Given the description of an element on the screen output the (x, y) to click on. 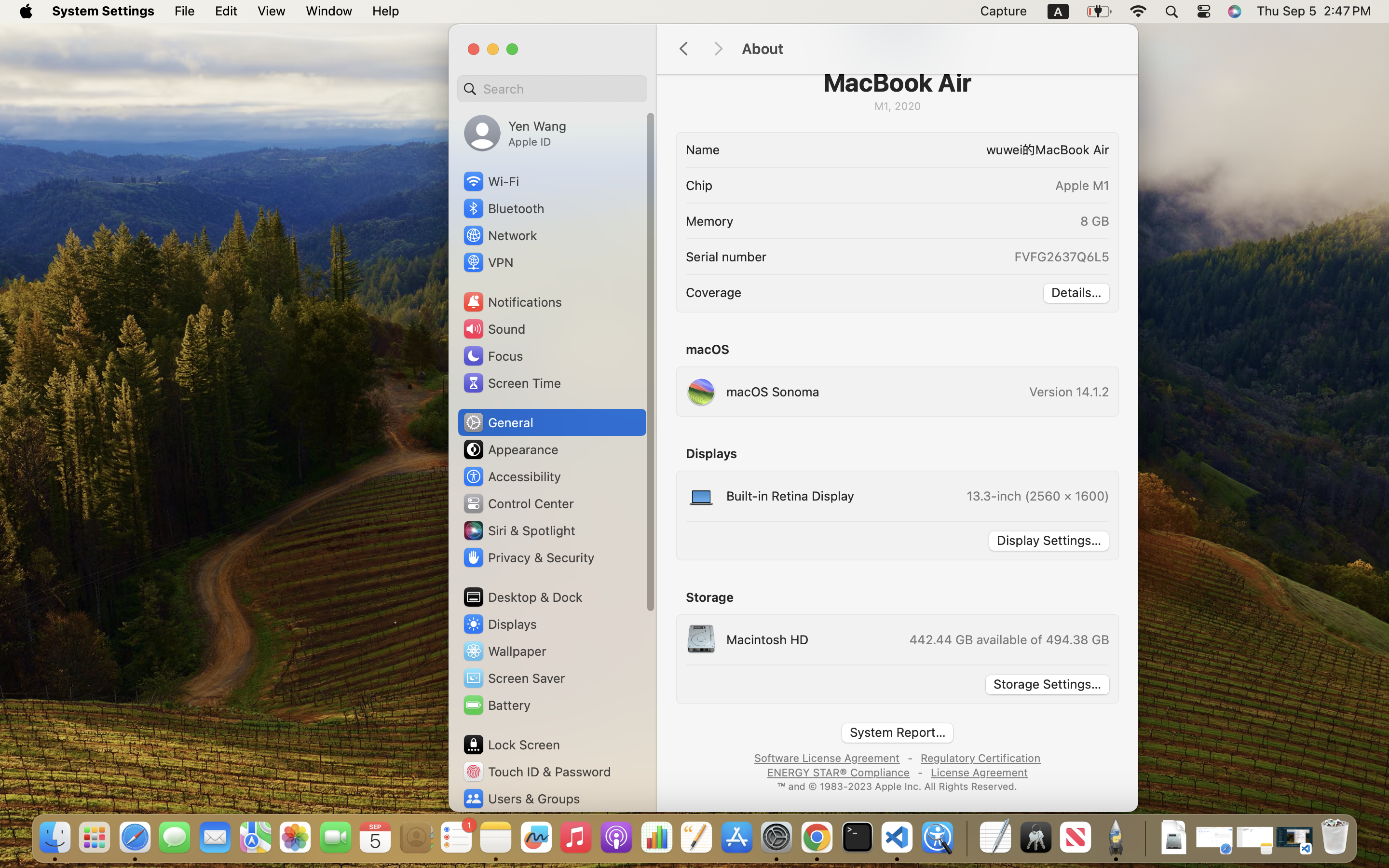
Serial number Element type: AXStaticText (725, 256)
442.44 GB available of 494.38 GB Element type: AXStaticText (1008, 639)
Notifications Element type: AXStaticText (512, 301)
FVFG2637Q6L5 Element type: AXStaticText (1060, 256)
Sound Element type: AXStaticText (493, 328)
